Given the description of an element on the screen output the (x, y) to click on. 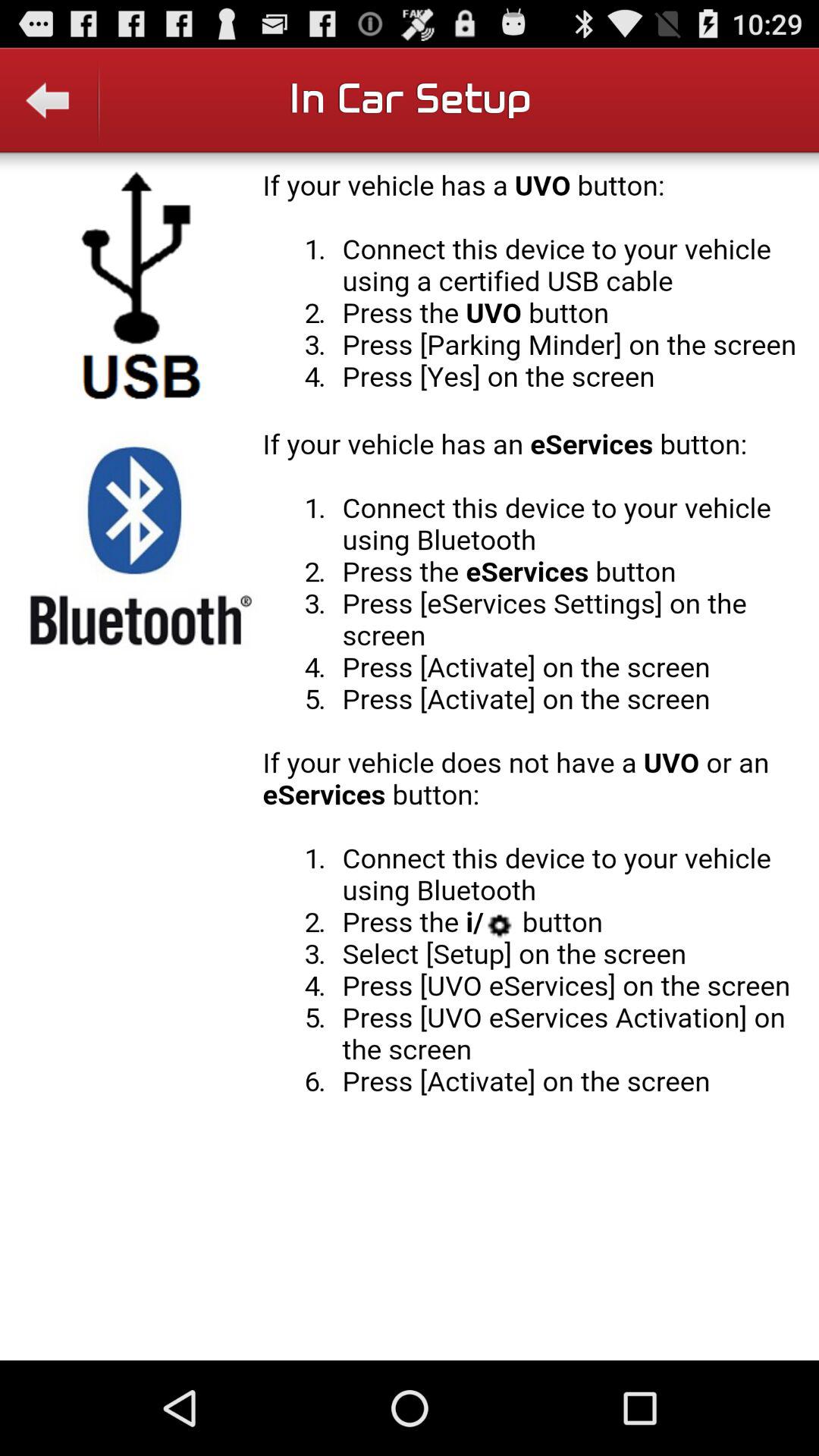
previous page (49, 110)
